Given the description of an element on the screen output the (x, y) to click on. 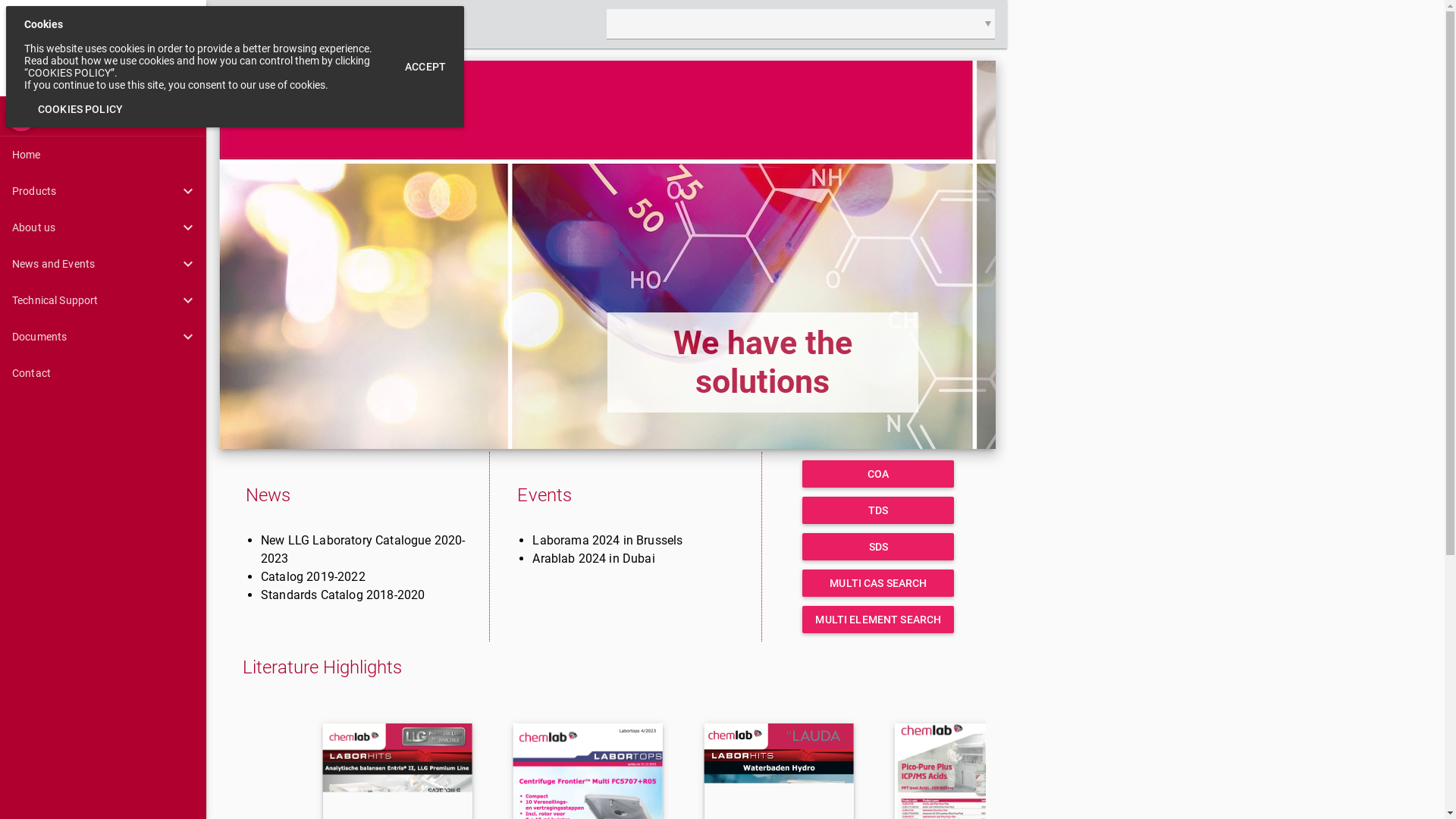
COA Element type: text (877, 473)
Chem-Lab Analytical Element type: hover (103, 48)
COOKIES POLICY Element type: text (80, 108)
EN Element type: text (21, 115)
ACCEPT Element type: text (425, 66)
MULTI CAS SEARCH Element type: text (877, 582)
TDS Element type: text (877, 510)
shopping_cart Element type: text (237, 24)
LOGIN Element type: text (305, 24)
MULTI ELEMENT SEARCH Element type: text (877, 619)
REQUEST LOGIN Element type: text (396, 24)
SDS Element type: text (877, 546)
